Given the description of an element on the screen output the (x, y) to click on. 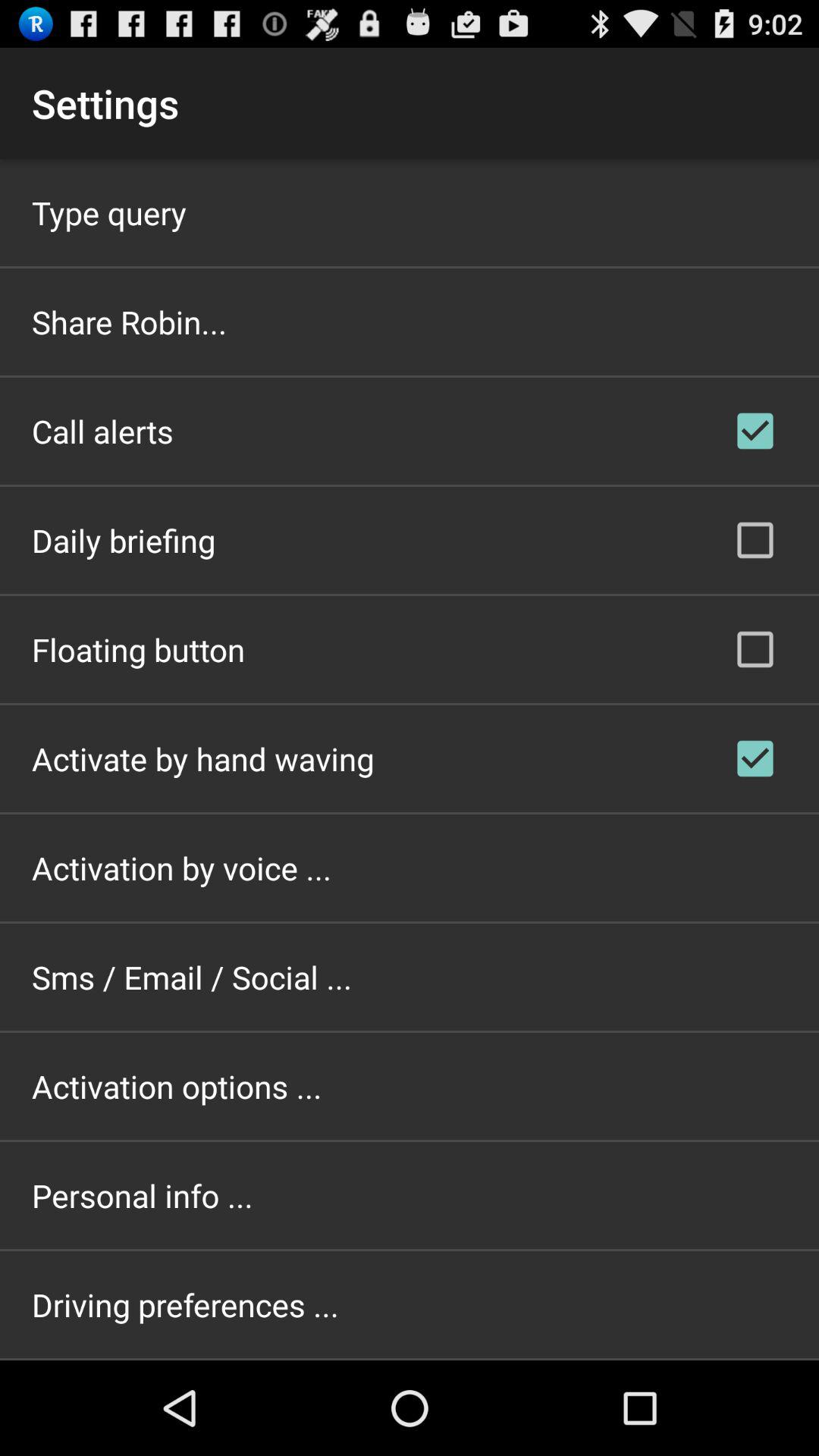
press icon above the floating button icon (123, 539)
